Given the description of an element on the screen output the (x, y) to click on. 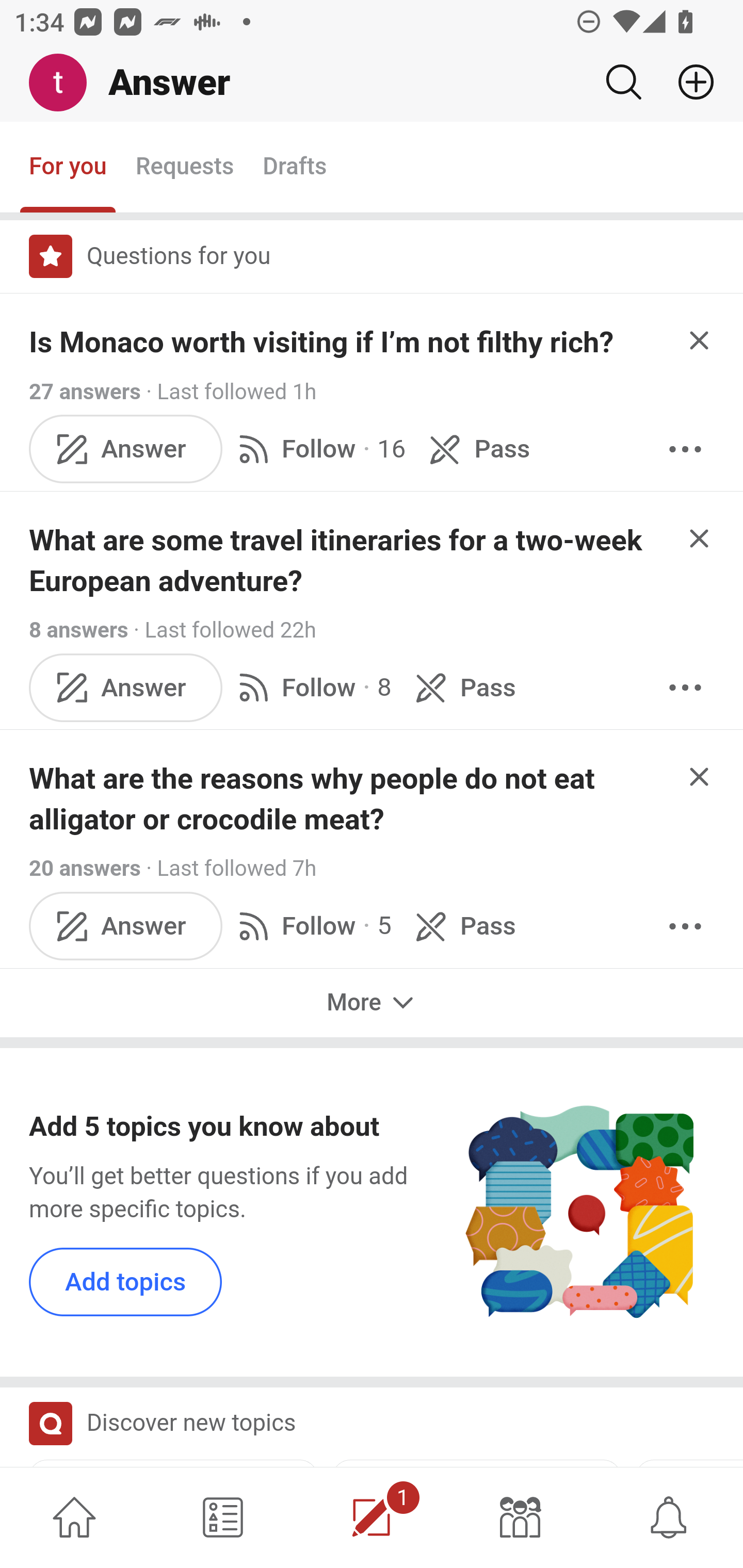
Me (64, 83)
Search (623, 82)
Add (688, 82)
For you (68, 167)
Requests (183, 167)
Drafts (295, 167)
Hide (699, 340)
Is Monaco worth visiting if I’m not filthy rich? (320, 342)
27 answers 27  answers (84, 390)
Answer (125, 448)
Follow · 16 (317, 448)
Pass (476, 448)
More (684, 448)
Hide (699, 537)
8 answers 8  answers (79, 629)
Answer (125, 687)
Follow · 8 (311, 687)
Pass (461, 687)
More (684, 687)
Hide (699, 776)
20 answers 20  answers (84, 868)
Answer (125, 925)
Follow · 5 (311, 925)
Pass (461, 925)
More (684, 925)
More (371, 1002)
Add topics (125, 1281)
